Given the description of an element on the screen output the (x, y) to click on. 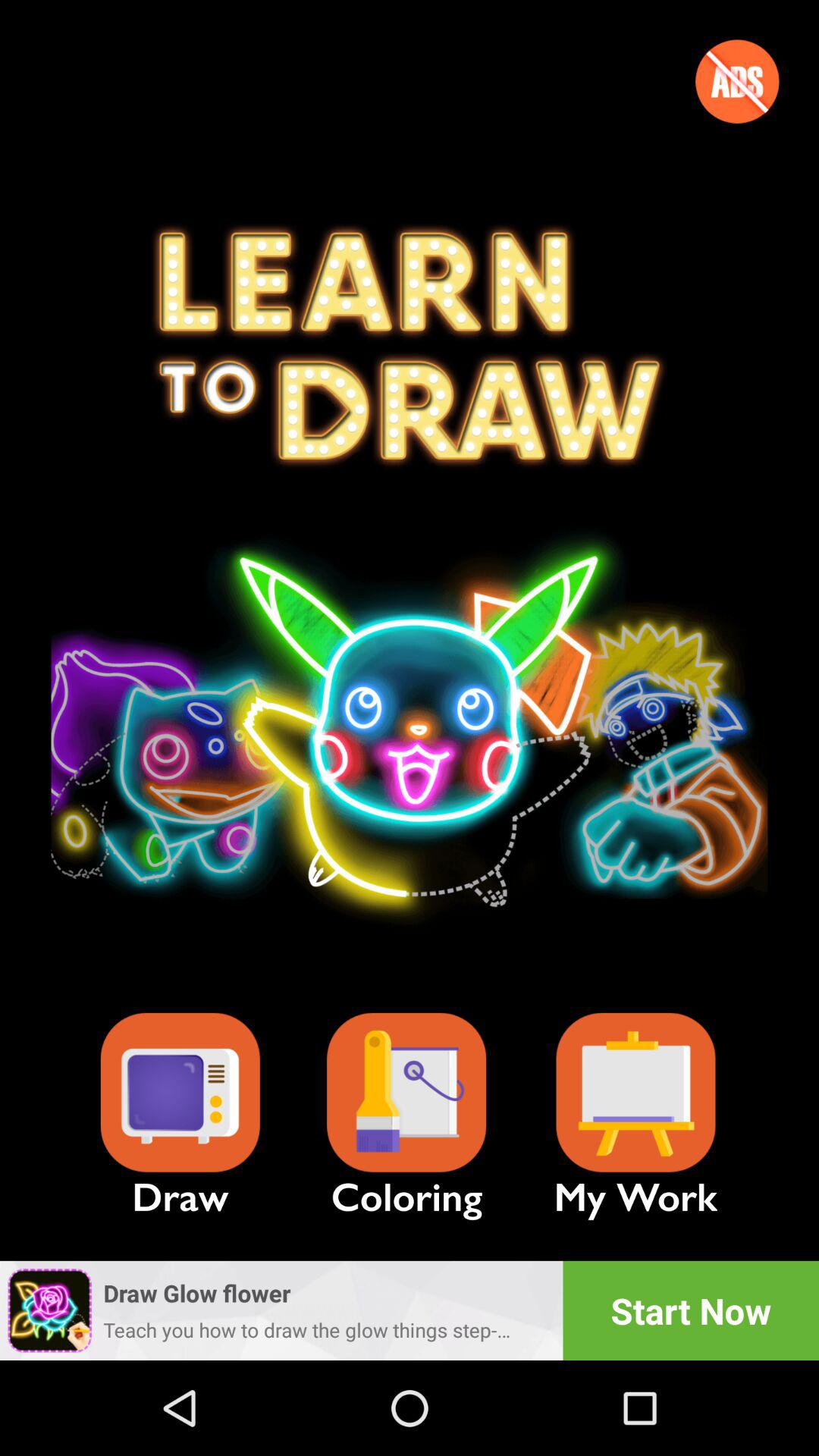
tap icon above coloring (406, 1092)
